Given the description of an element on the screen output the (x, y) to click on. 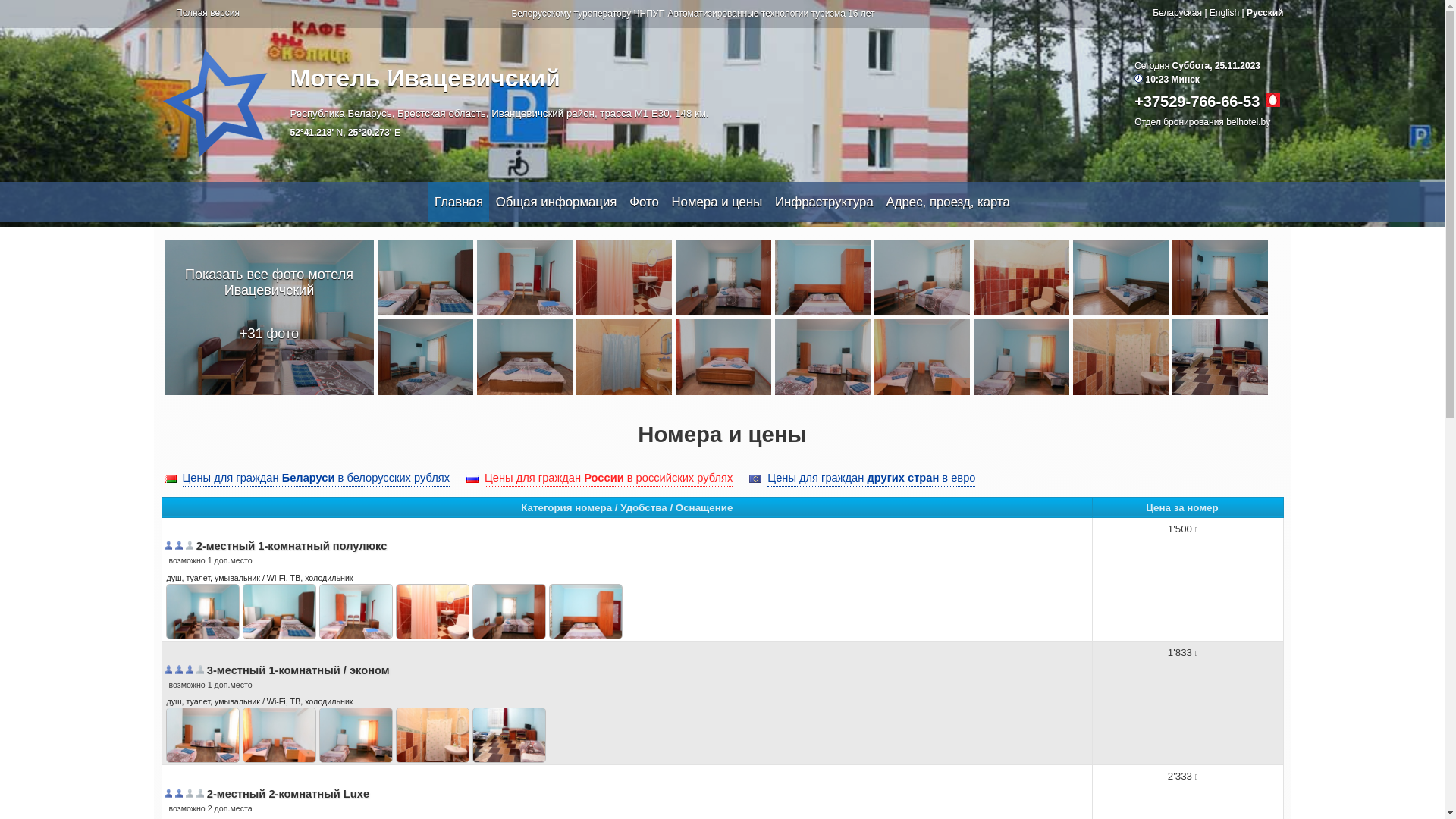
+37529-766-66-53 Element type: text (1196, 101)
English Element type: text (1224, 12)
